Given the description of an element on the screen output the (x, y) to click on. 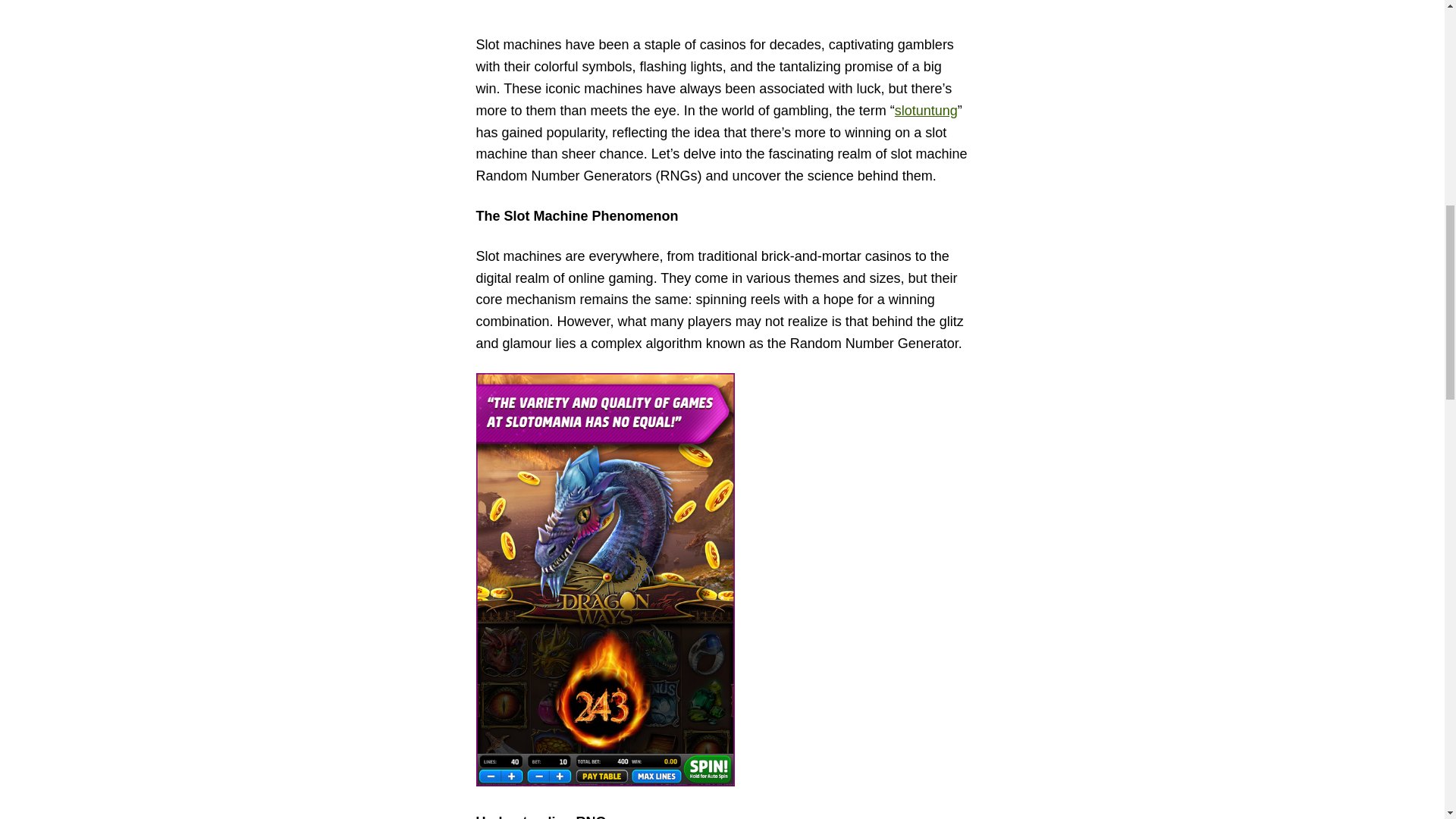
slotuntung (926, 110)
